Given the description of an element on the screen output the (x, y) to click on. 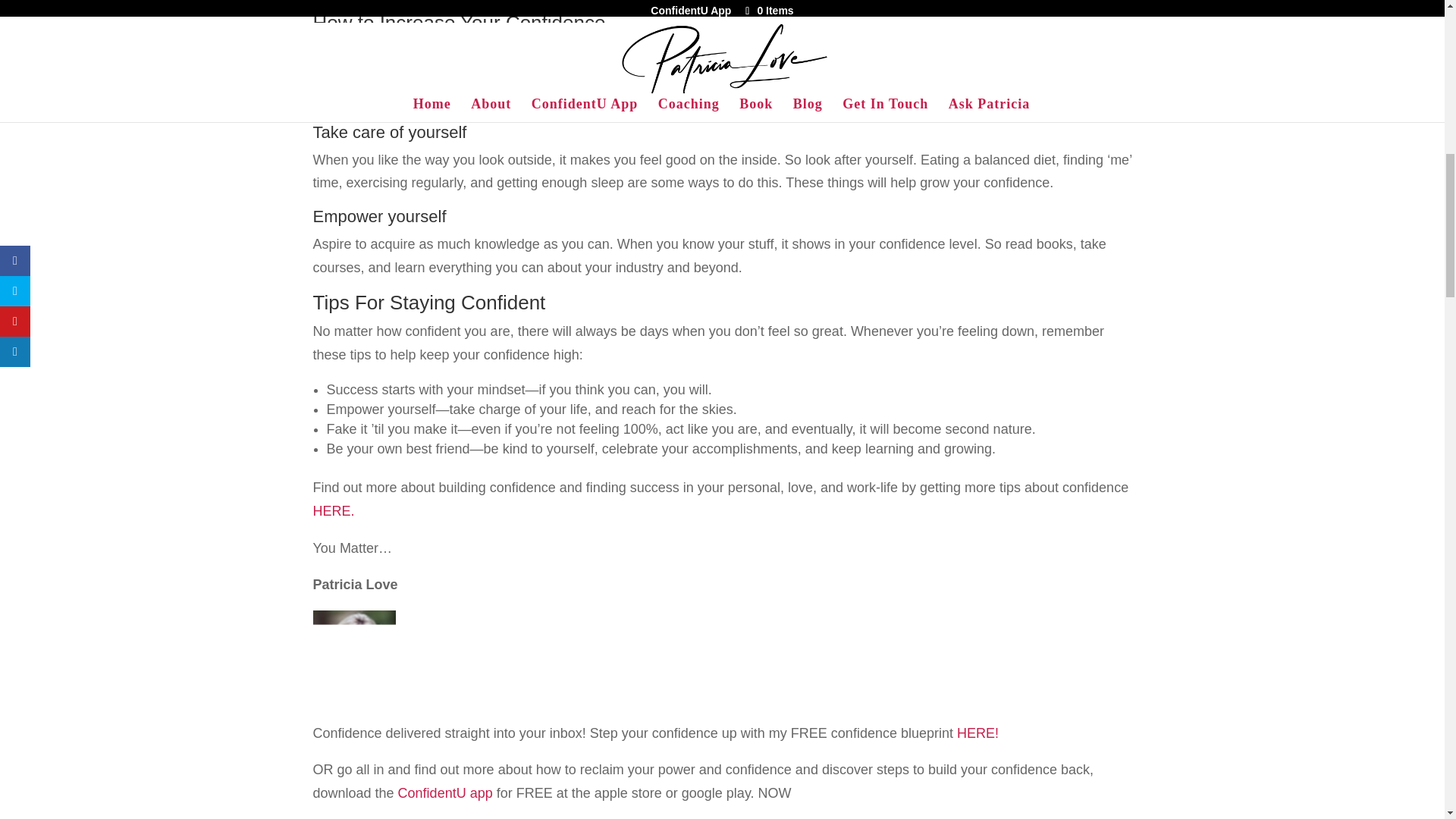
ConfidentU app (445, 792)
HERE. (333, 510)
HERE! (977, 733)
